Given the description of an element on the screen output the (x, y) to click on. 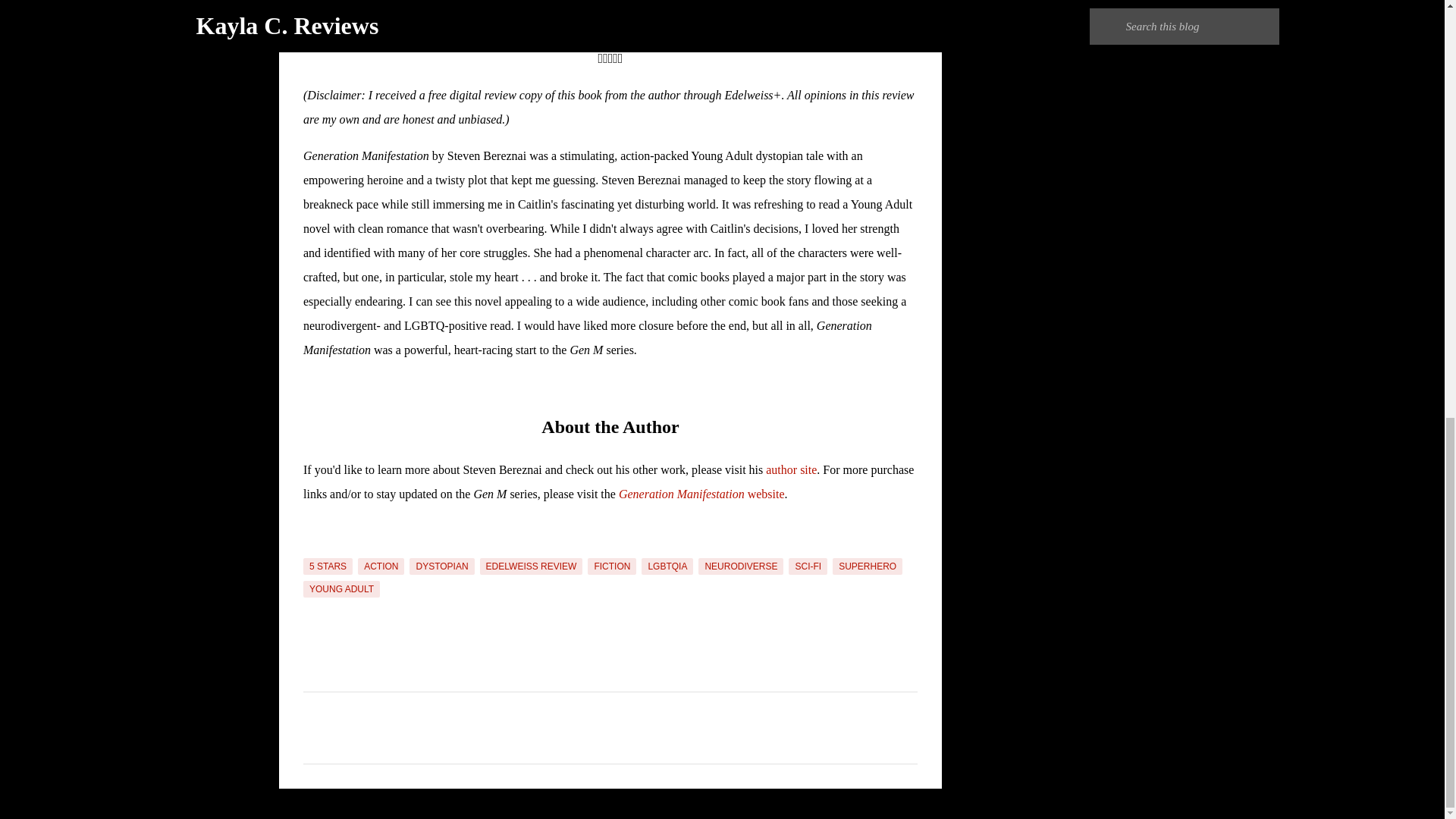
FICTION (612, 565)
DYSTOPIAN (441, 565)
SUPERHERO (867, 565)
LGBTQIA (667, 565)
5 STARS (327, 565)
EDELWEISS REVIEW (531, 565)
author site (790, 469)
ACTION (381, 565)
Generation Manifestation website (701, 493)
YOUNG ADULT (341, 588)
SCI-FI (808, 565)
NEURODIVERSE (740, 565)
